Given the description of an element on the screen output the (x, y) to click on. 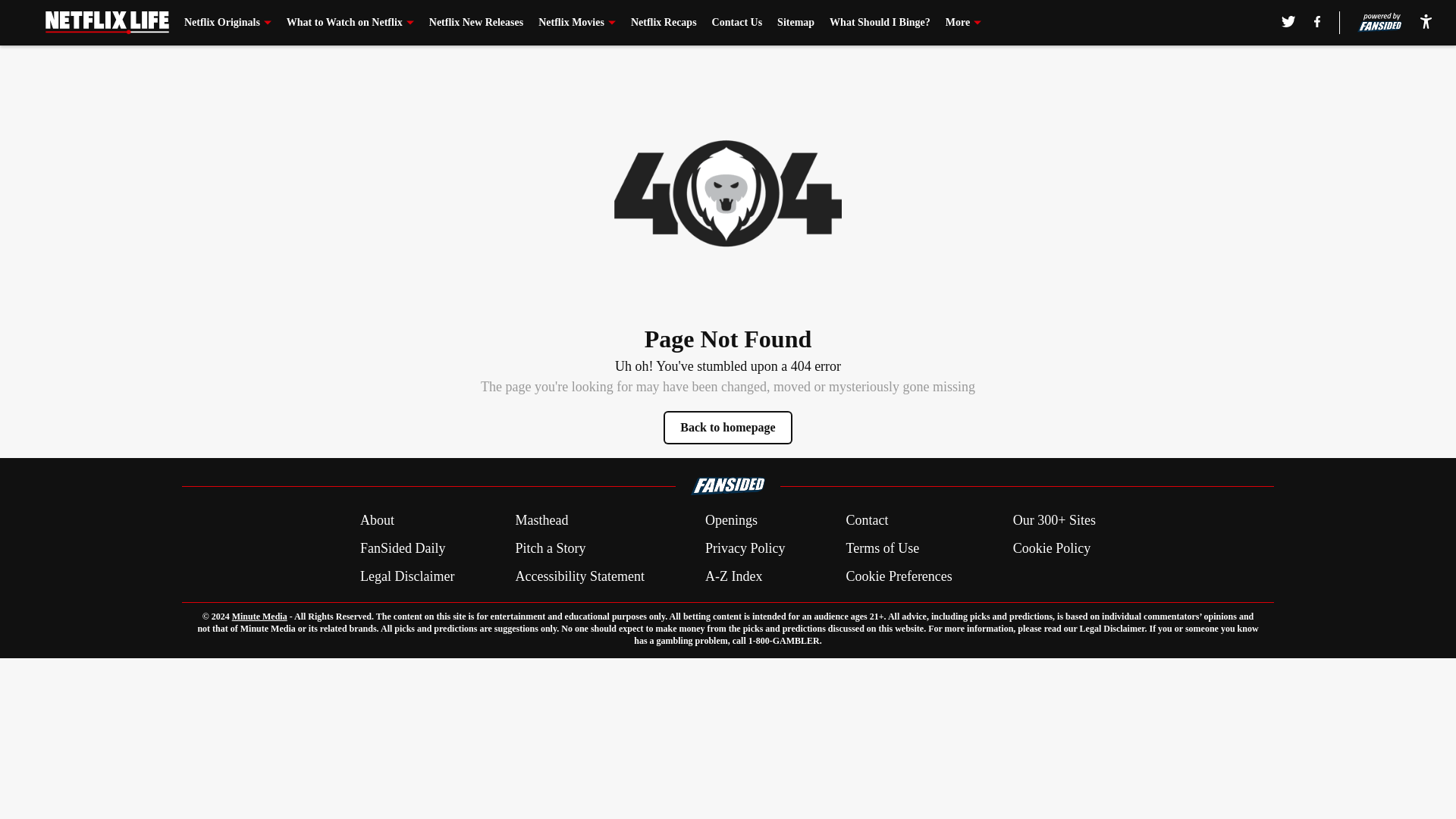
Error image (727, 193)
What to Watch on Netflix (349, 22)
Netflix Movies (576, 22)
Netflix New Releases (475, 22)
Netflix Originals (227, 22)
